Given the description of an element on the screen output the (x, y) to click on. 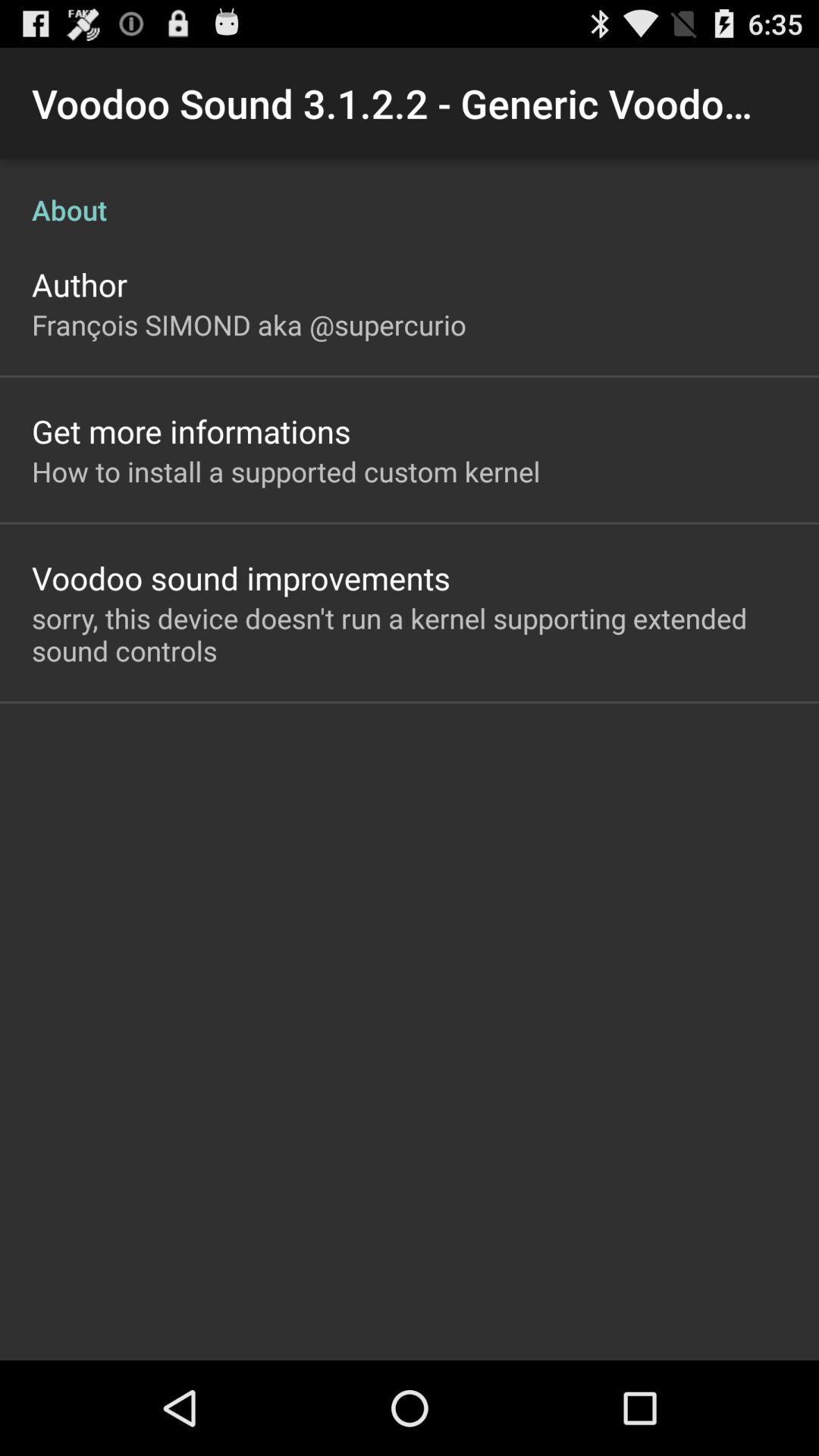
press the app below the about app (79, 283)
